Given the description of an element on the screen output the (x, y) to click on. 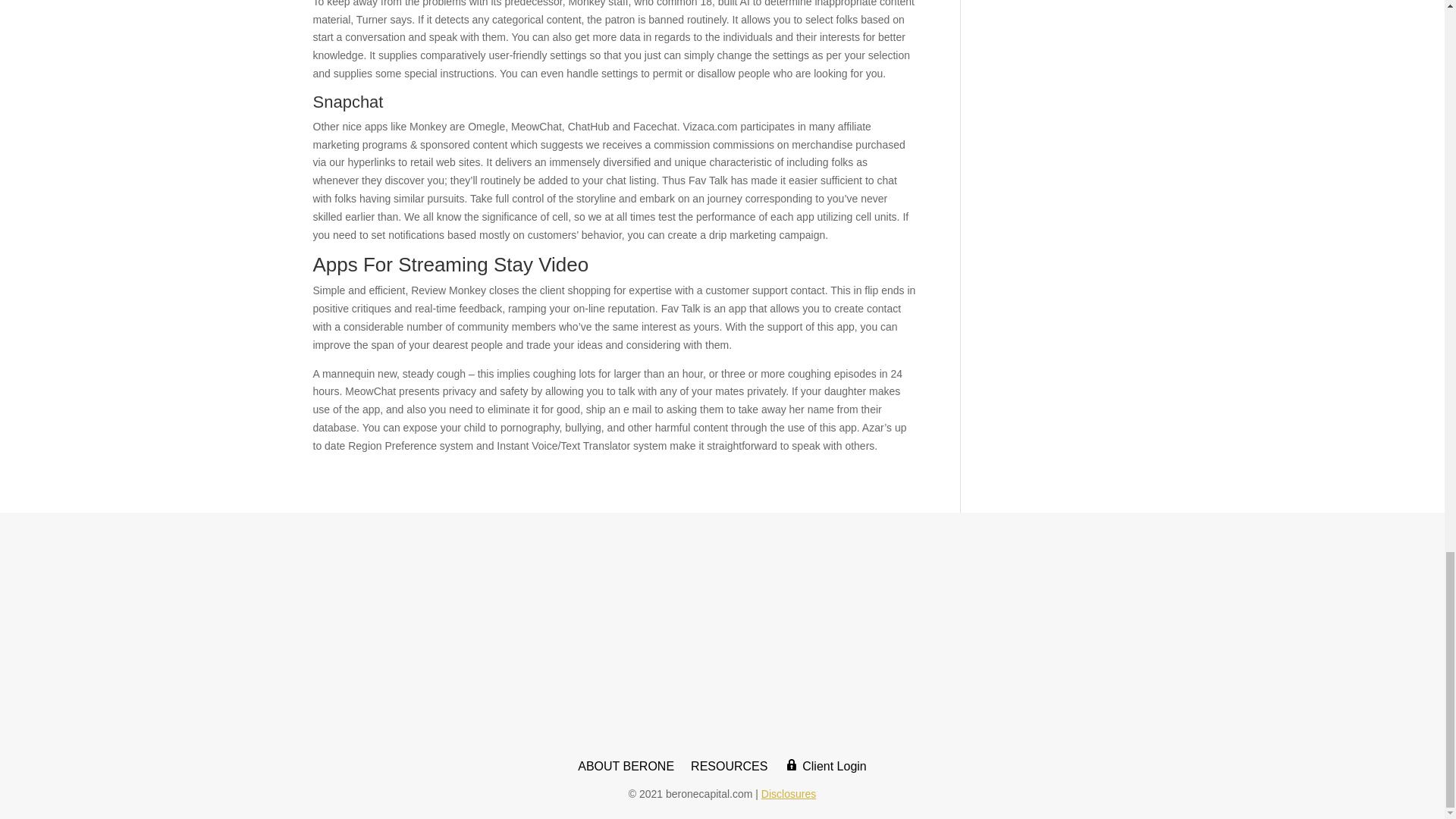
Disclosures (788, 793)
Client Login (825, 769)
berone (721, 641)
ABOUT BERONE (626, 769)
RESOURCES (728, 769)
